Given the description of an element on the screen output the (x, y) to click on. 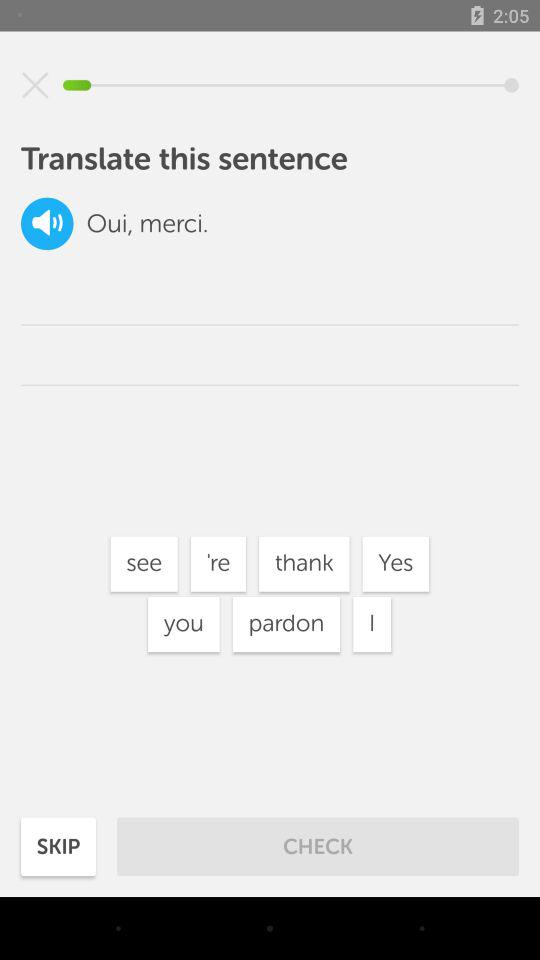
open icon to the left of pardon icon (183, 624)
